Given the description of an element on the screen output the (x, y) to click on. 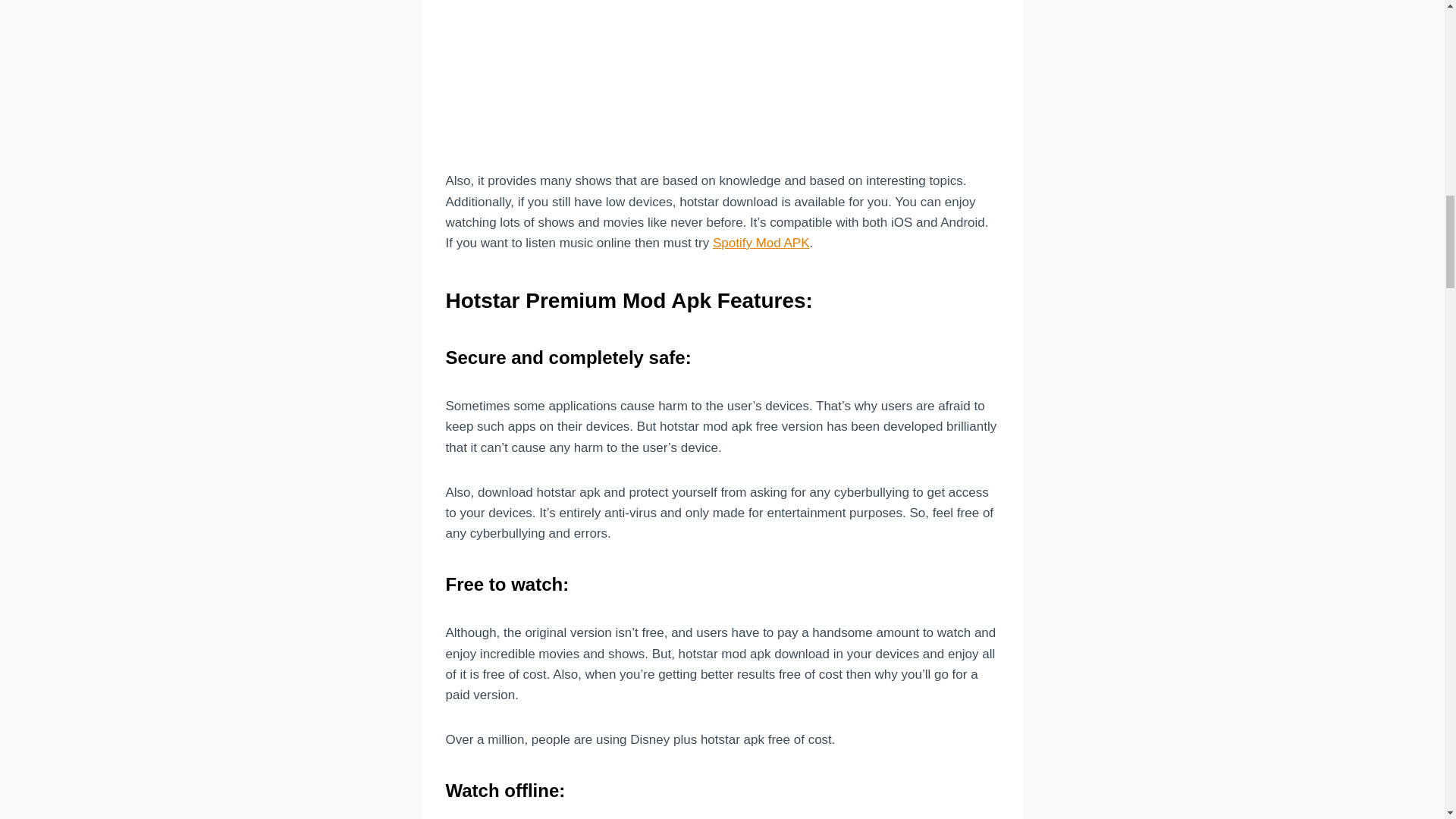
Spotify Mod APK (761, 242)
